Given the description of an element on the screen output the (x, y) to click on. 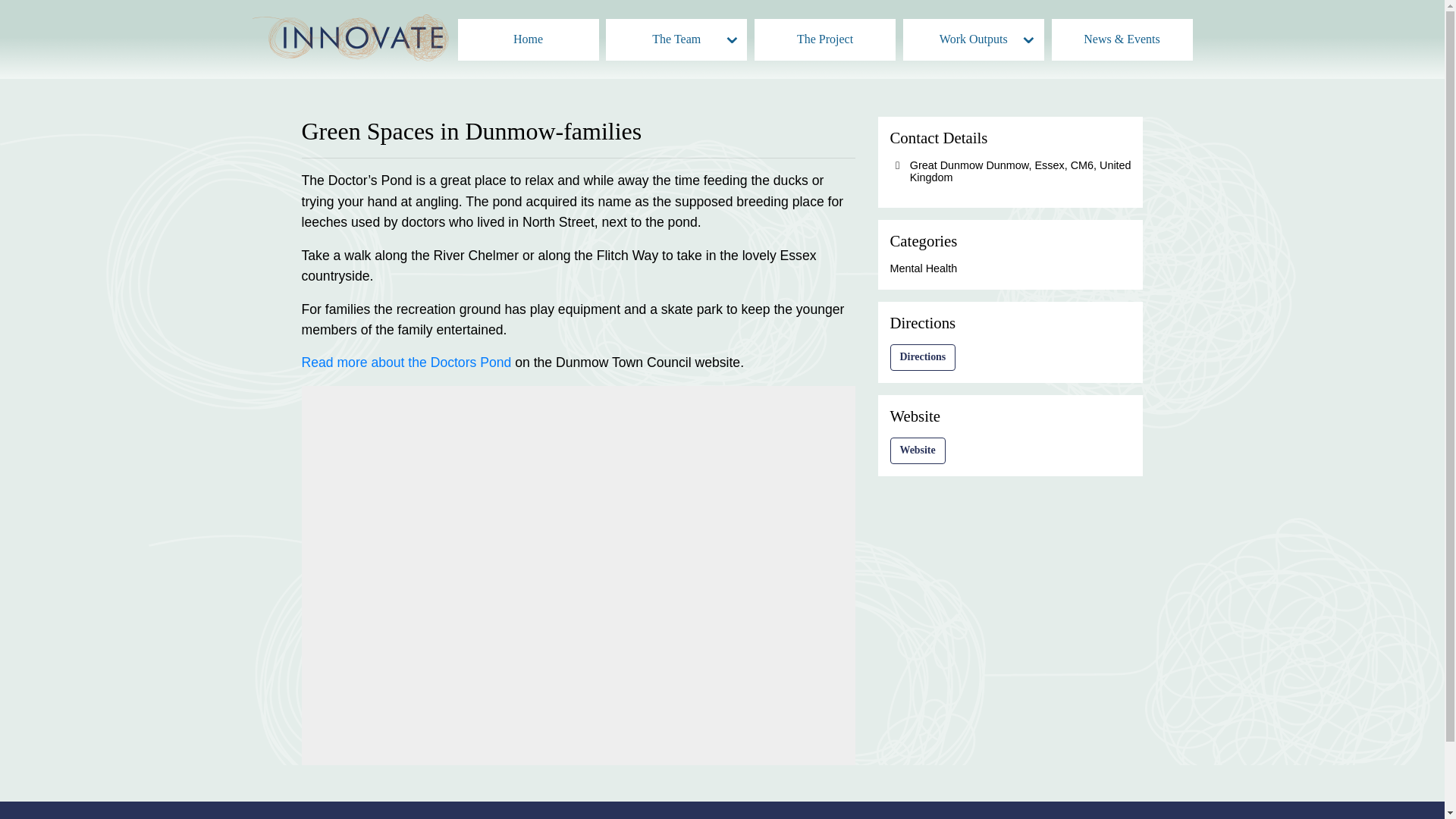
Website (916, 450)
Work Outputs (972, 38)
Read more about the Doctors Pond (406, 362)
The Team (675, 38)
Home (528, 38)
The Project (824, 38)
Directions (922, 357)
